Given the description of an element on the screen output the (x, y) to click on. 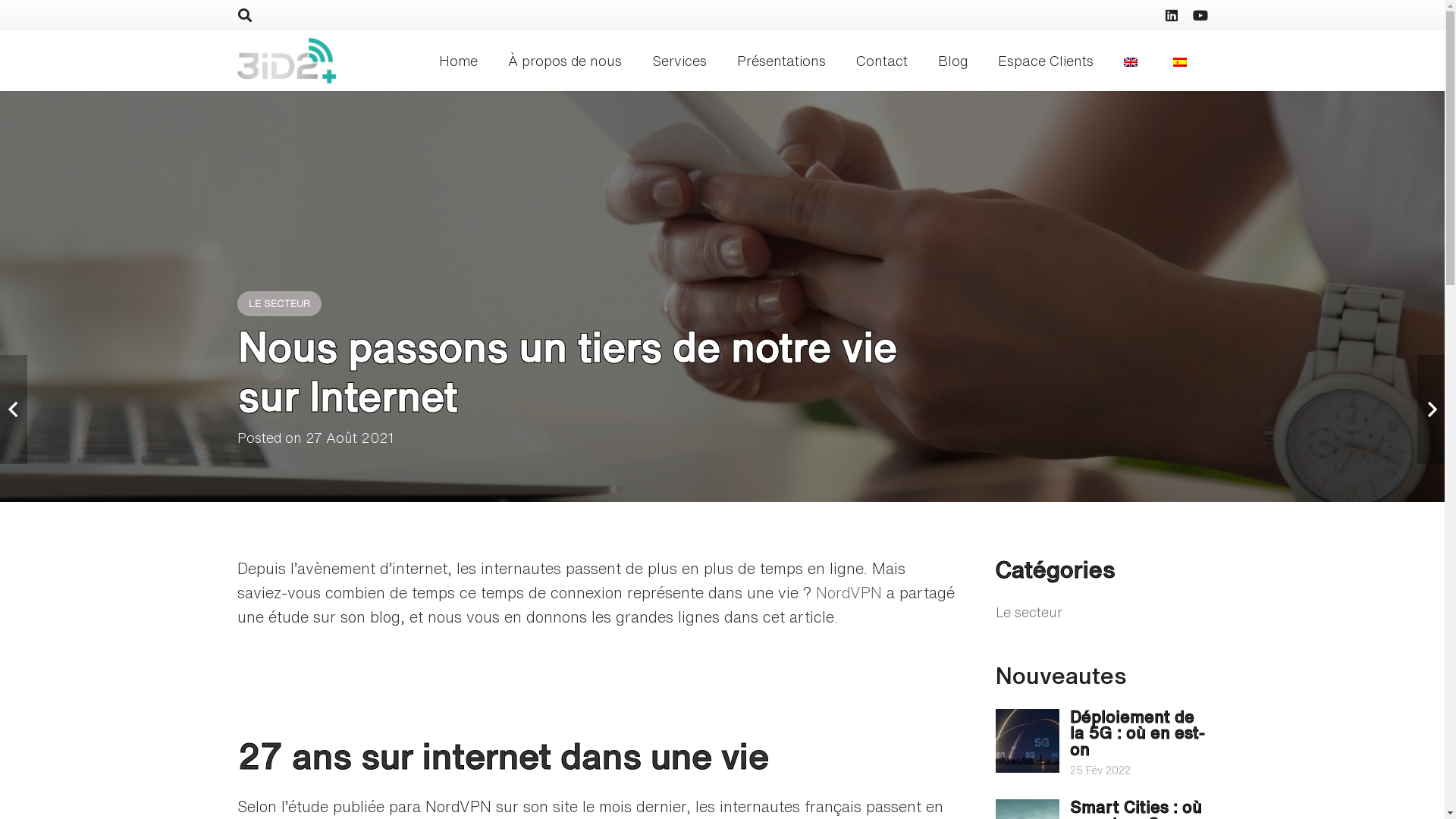
Le secteur Element type: text (1028, 611)
Espace Clients Element type: text (1045, 60)
NordVPN Element type: text (848, 592)
Blog Element type: text (952, 60)
YouTube Element type: hover (1199, 14)
Home Element type: text (457, 60)
Services Element type: text (679, 60)
LE SECTEUR Element type: text (278, 303)
Contact Element type: text (881, 60)
LinkedIn Element type: hover (1170, 14)
